Given the description of an element on the screen output the (x, y) to click on. 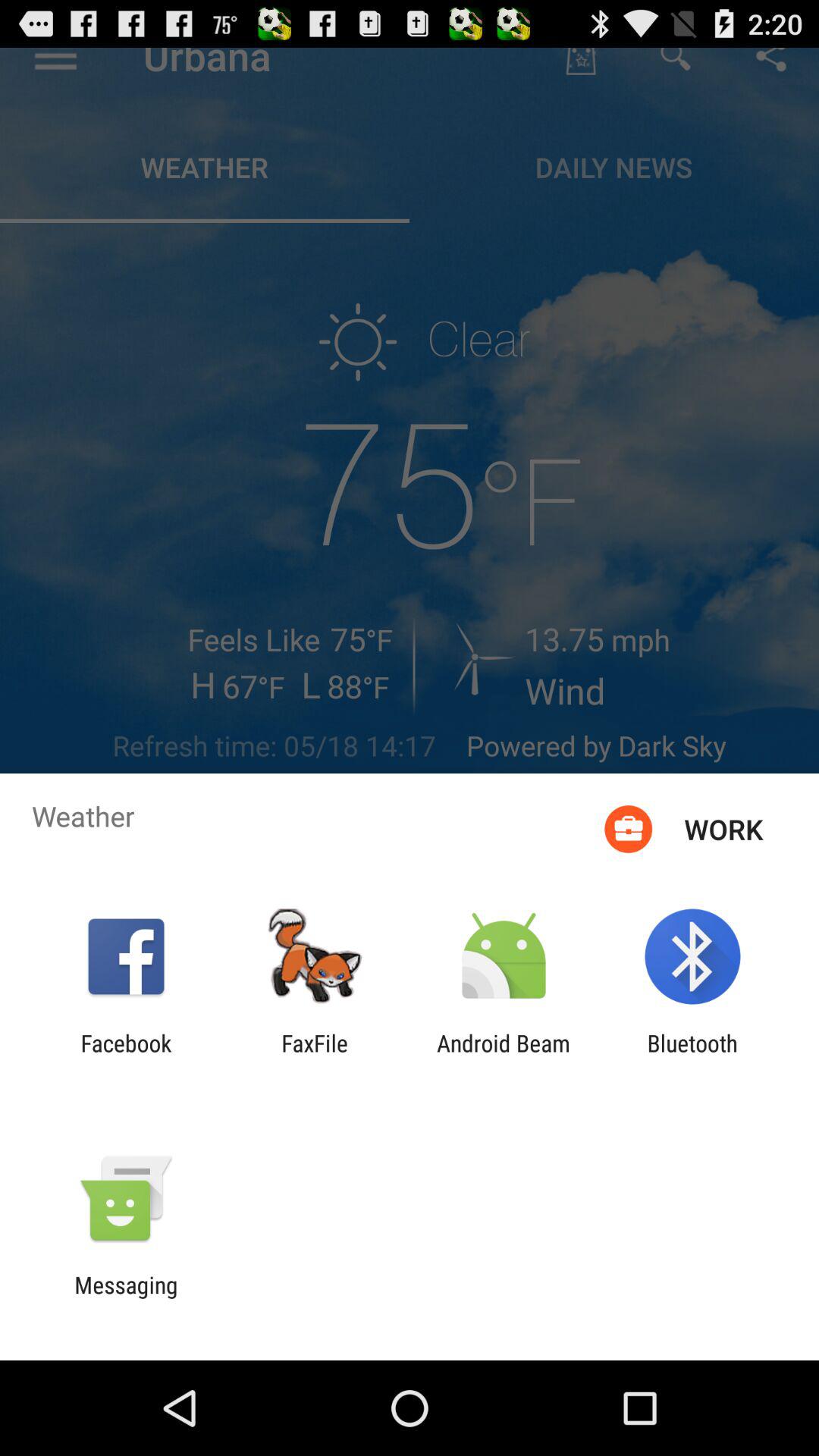
flip to faxfile app (314, 1056)
